Given the description of an element on the screen output the (x, y) to click on. 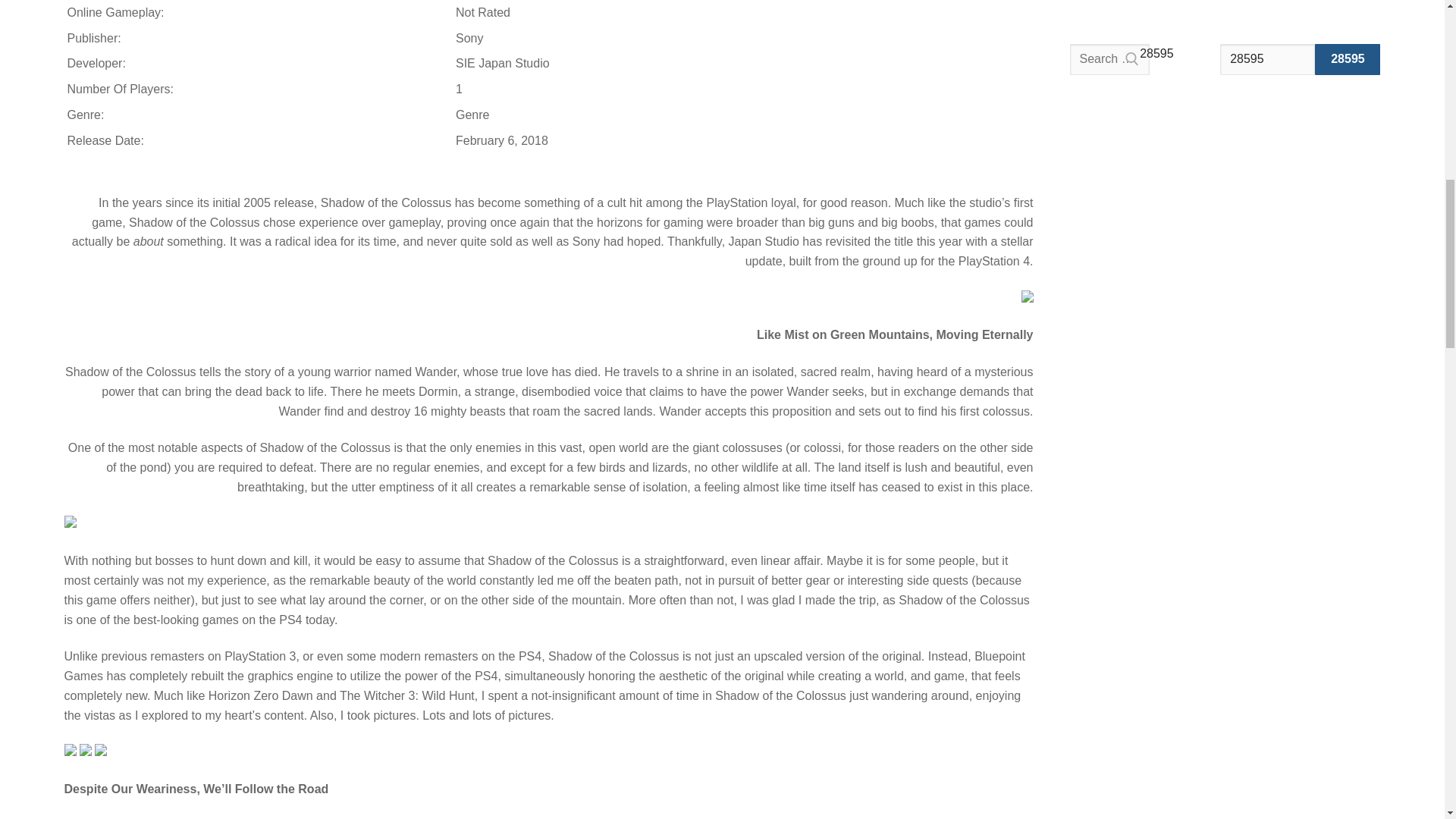
28595 (1347, 60)
Search for: (1109, 60)
28595 (1267, 60)
28595 (1347, 60)
28595 (1267, 60)
